Given the description of an element on the screen output the (x, y) to click on. 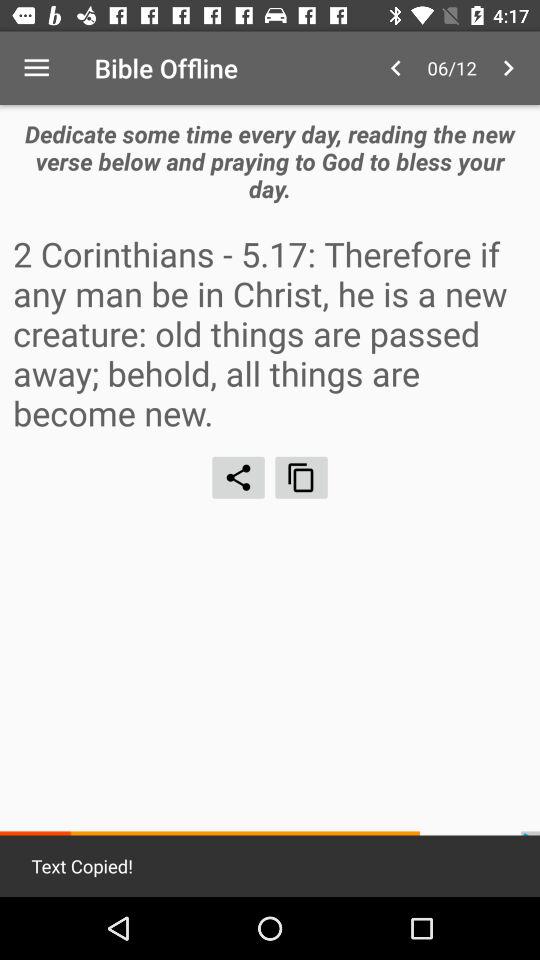
share the passage (238, 477)
